Given the description of an element on the screen output the (x, y) to click on. 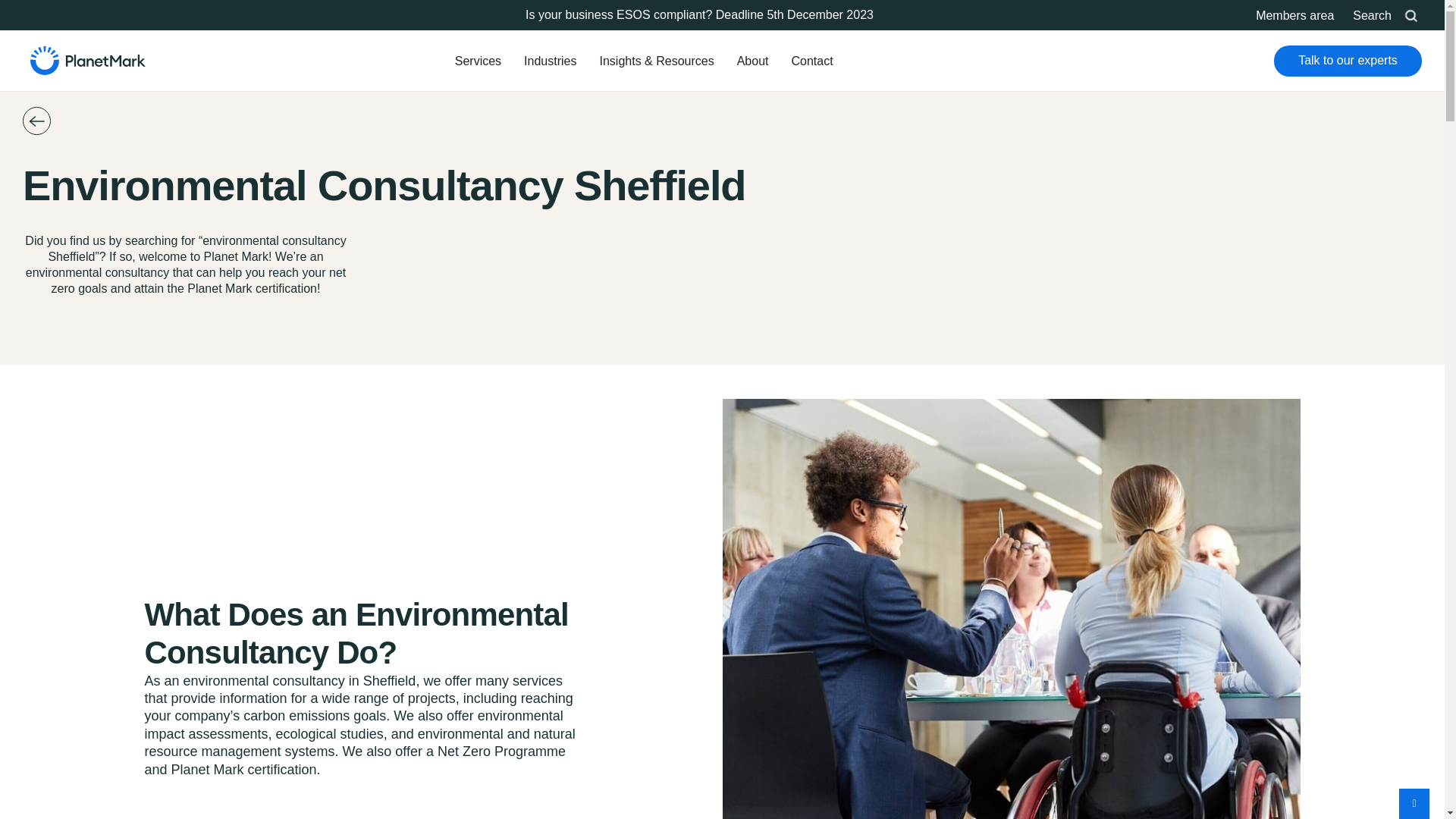
Talk to our experts (1348, 60)
Contact (811, 50)
Members area (1294, 15)
Is your business ESOS compliant? Deadline 5th December 2023 (711, 14)
Search (558, 248)
